Given the description of an element on the screen output the (x, y) to click on. 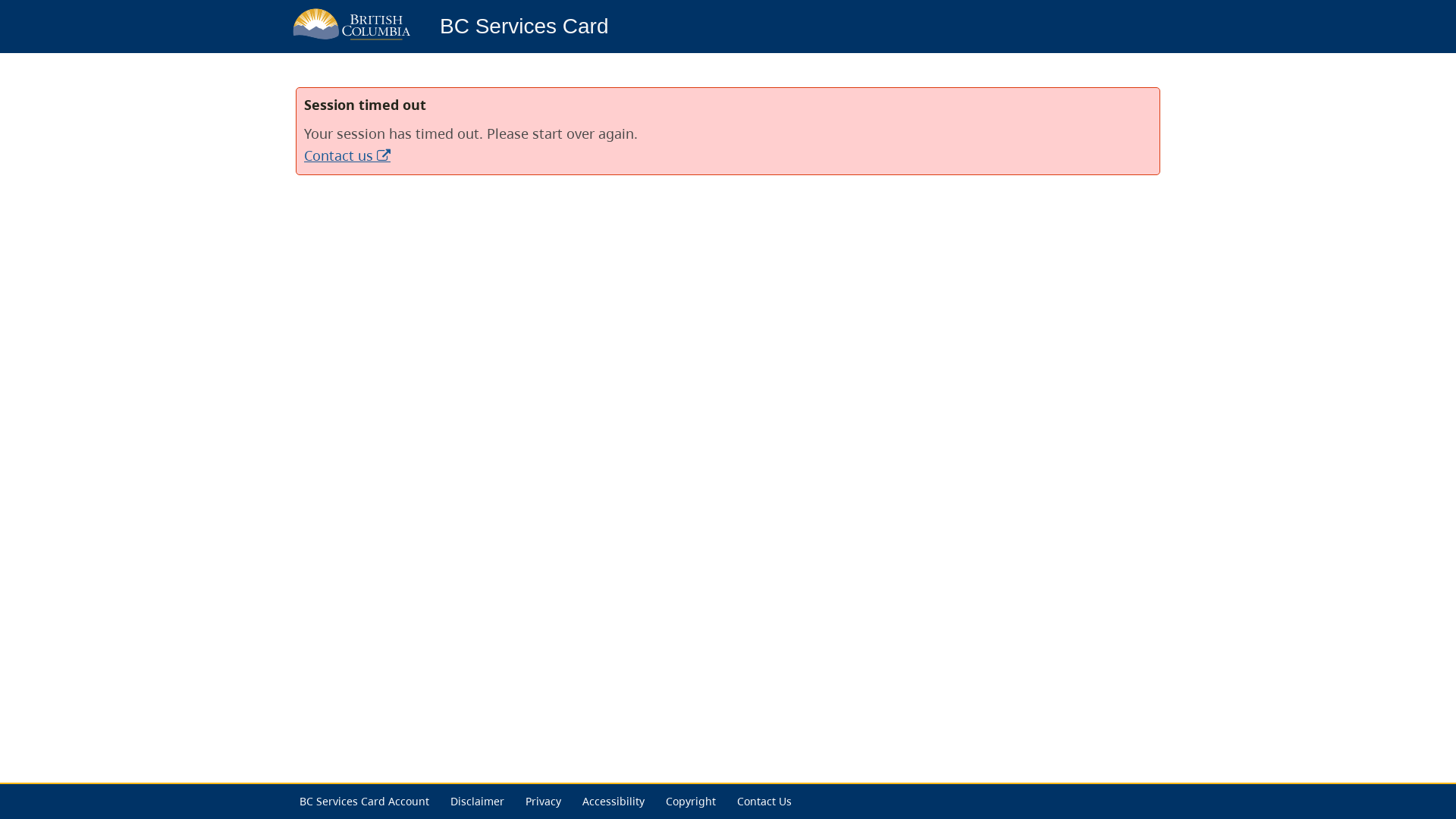
Accessibility Element type: text (613, 800)
Disclaimer Element type: text (477, 800)
Contact us Element type: text (347, 154)
BC Services Card Account Element type: text (364, 800)
Privacy Element type: text (542, 800)
Contact Us Element type: text (764, 800)
Copyright Element type: text (690, 800)
